Given the description of an element on the screen output the (x, y) to click on. 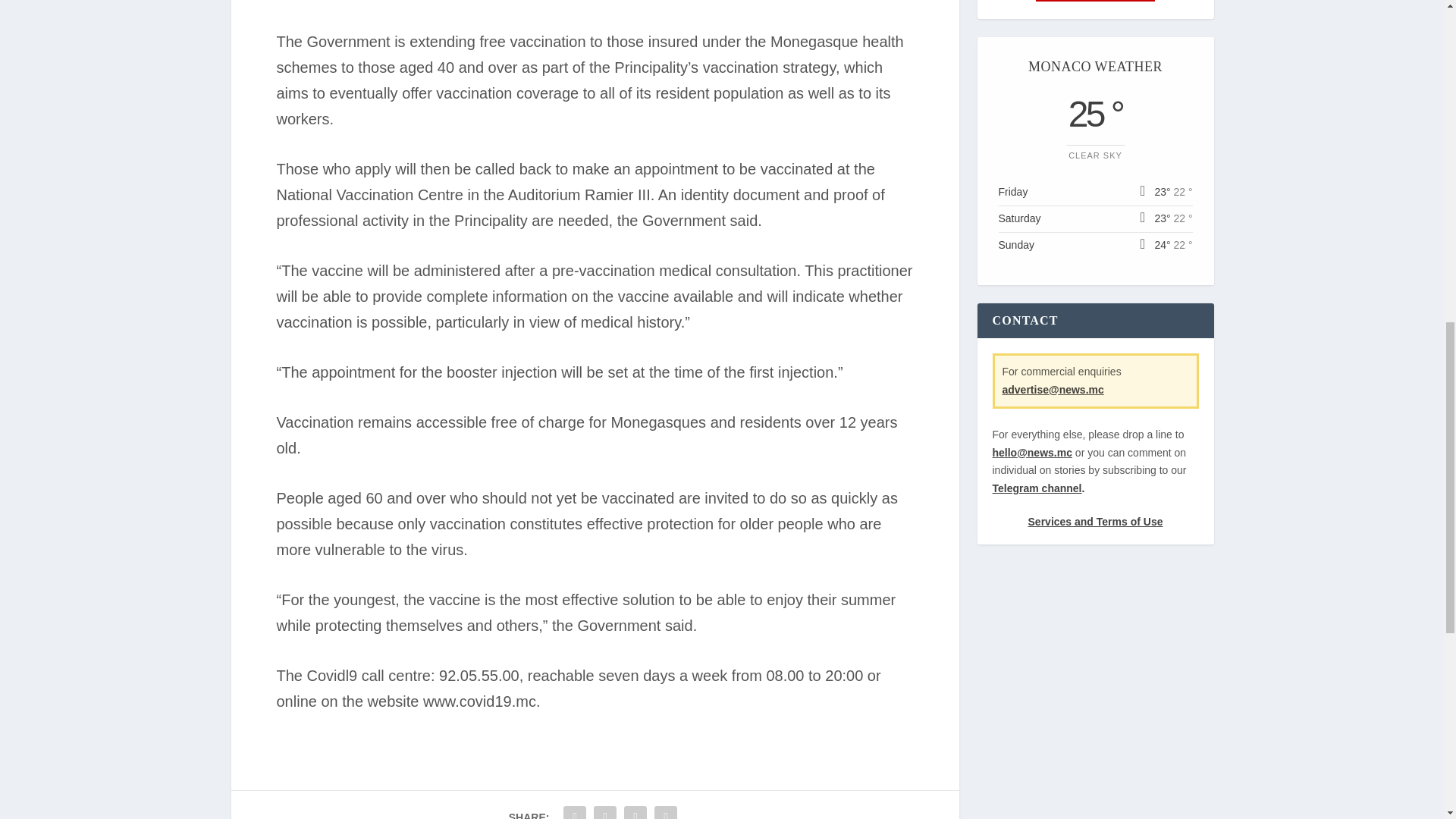
Share "Monaco extends vaccination for employees" via Print (665, 810)
Share "Monaco extends vaccination for employees" via Twitter (604, 810)
Share "Monaco extends vaccination for employees" via Email (635, 810)
